Given the description of an element on the screen output the (x, y) to click on. 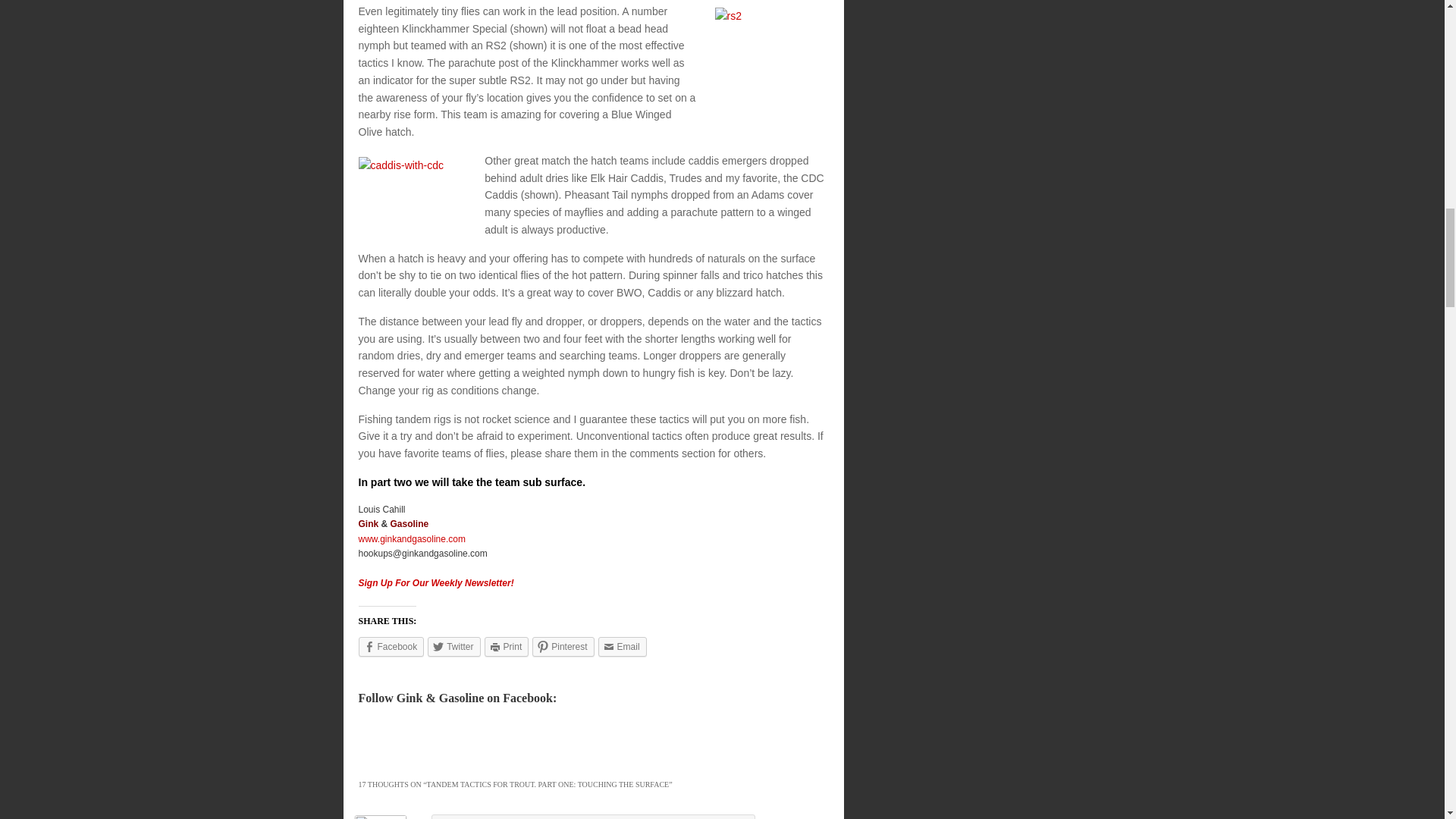
Facebook (390, 646)
Share on Facebook (390, 646)
Click to print (506, 646)
Click to share on Pinterest (563, 646)
Pinterest (563, 646)
Email (622, 646)
Twitter (454, 646)
Click to share on Twitter (454, 646)
Print (506, 646)
Sign Up For Our Weekly Newsletter! (435, 583)
